Given the description of an element on the screen output the (x, y) to click on. 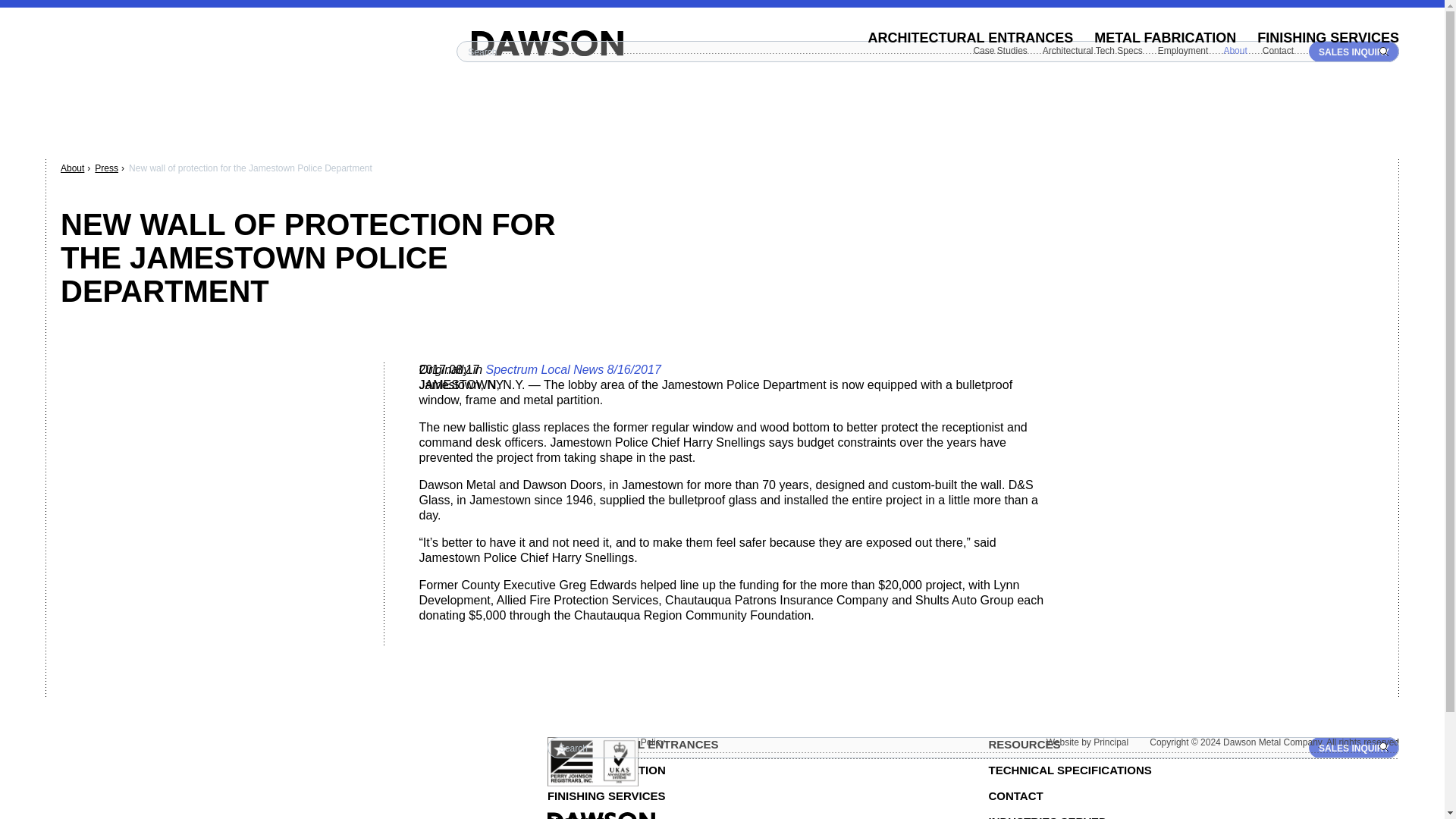
ARCHITECTURAL ENTRANCES (752, 744)
Architectural Tech Specs (1092, 50)
Case Studies (999, 50)
Perry Johnson Registrars, Inc. (593, 761)
SALES INQUIRY (1353, 51)
About (72, 167)
ARCHITECTURAL ENTRANCES (970, 37)
METAL FABRICATION (1165, 37)
Employment (1182, 50)
About (1234, 50)
Contact (1278, 50)
SALES INQUIRY (1353, 747)
FINISHING SERVICES (1328, 37)
Press (105, 167)
